Given the description of an element on the screen output the (x, y) to click on. 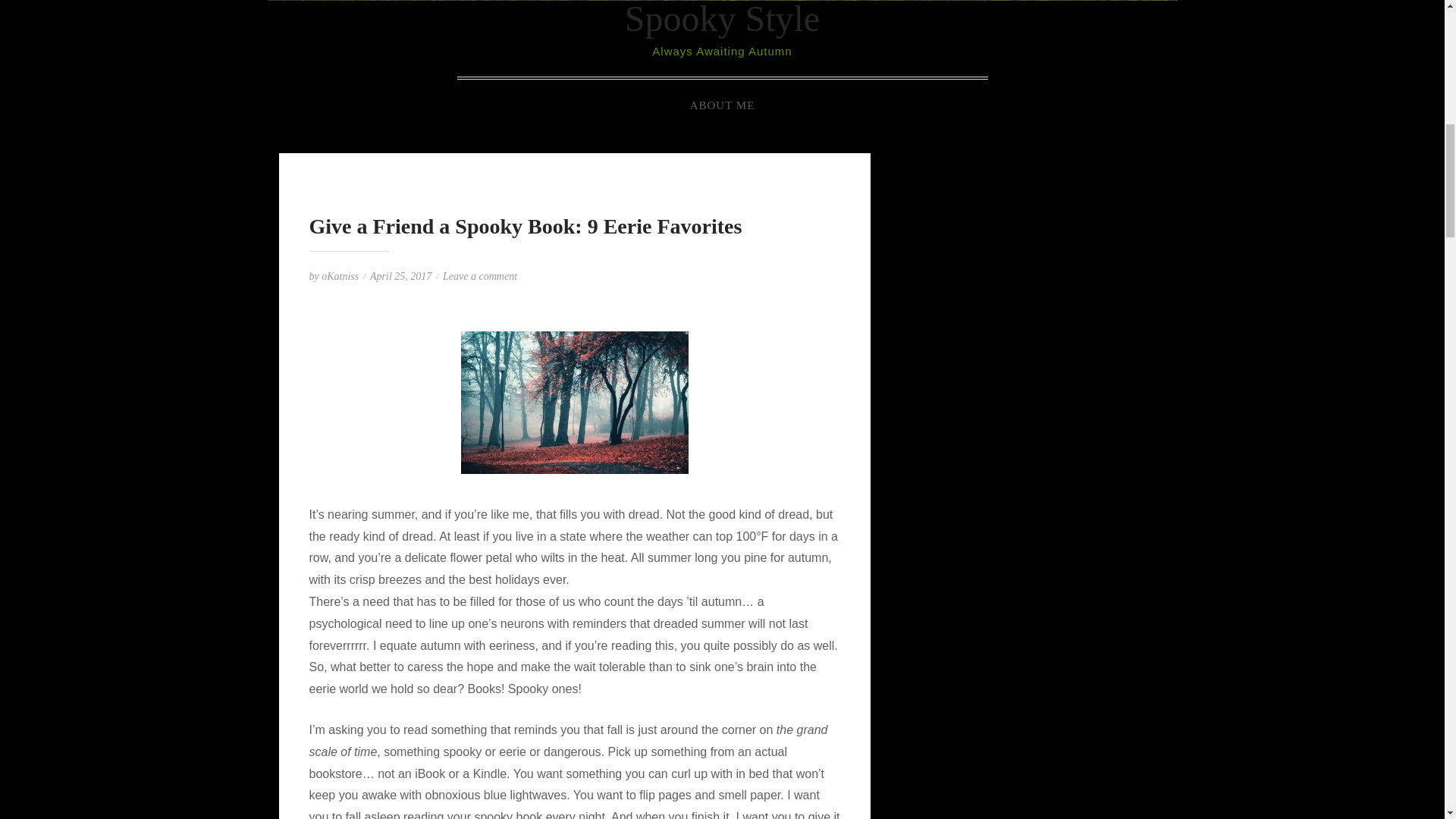
Spooky Style (721, 19)
ABOUT ME (722, 105)
April 25, 2017 (399, 276)
oKatniss (339, 276)
